Given the description of an element on the screen output the (x, y) to click on. 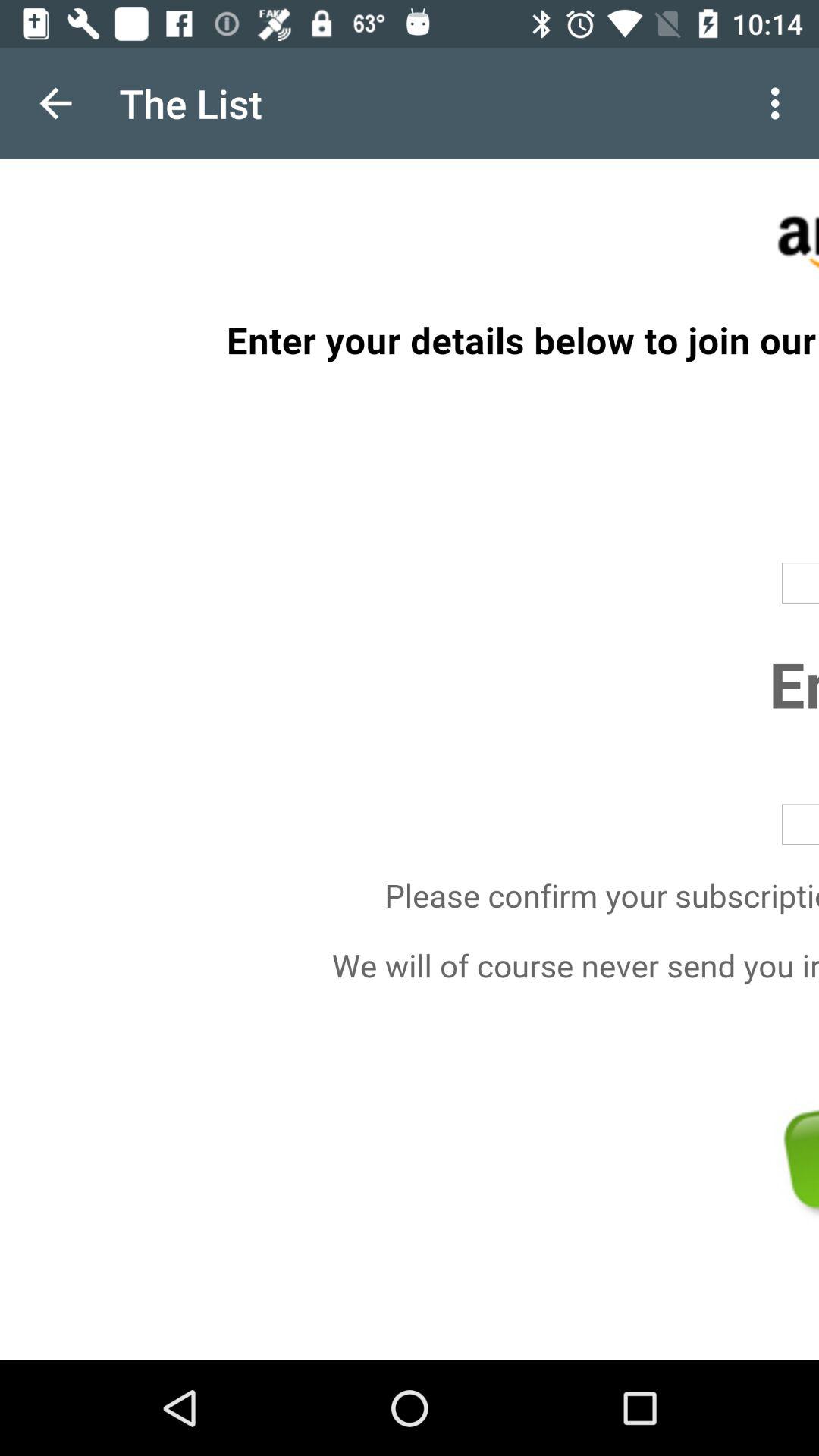
click item at the center (409, 759)
